Given the description of an element on the screen output the (x, y) to click on. 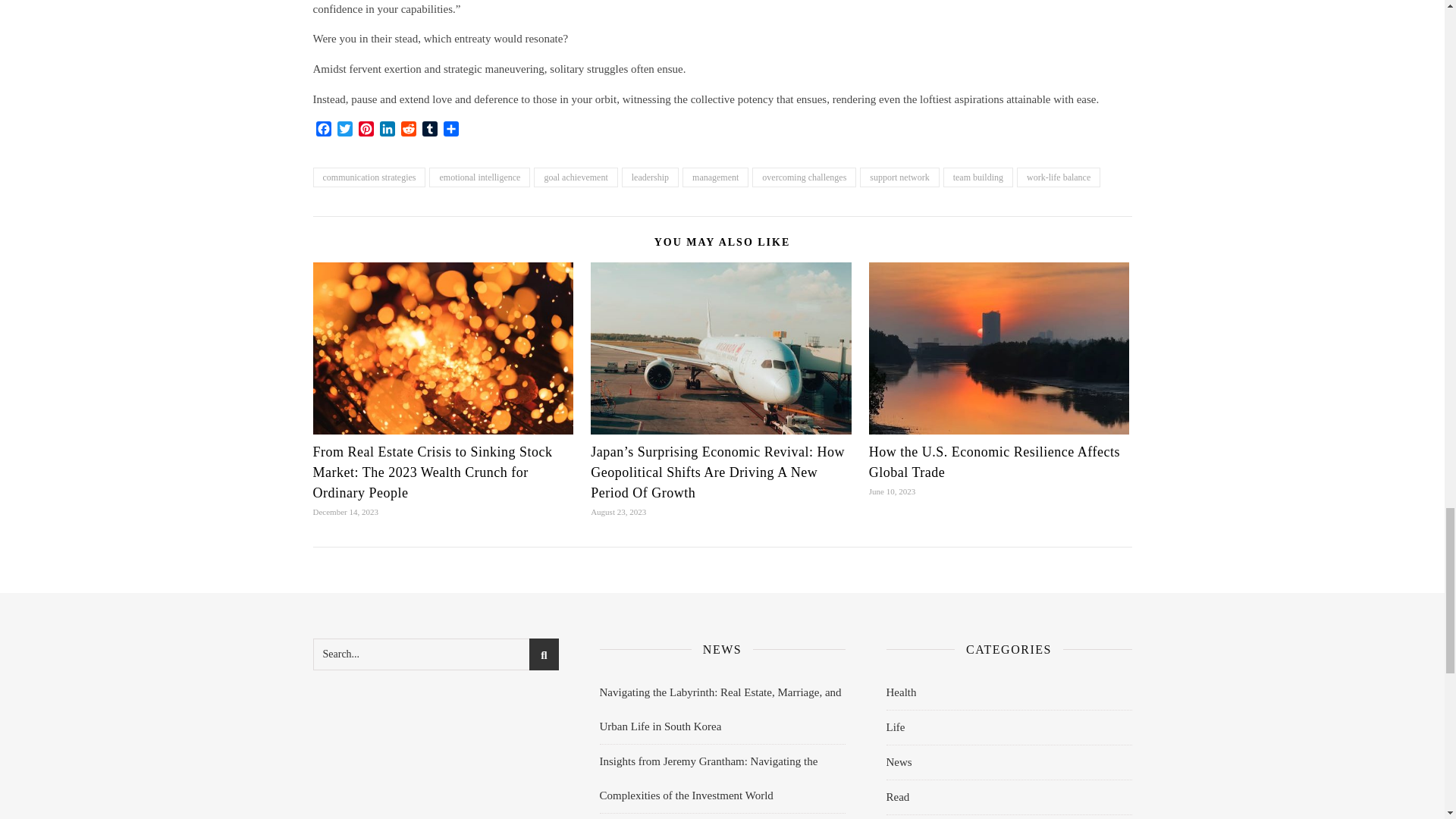
Pinterest (365, 130)
Twitter (344, 130)
Facebook (323, 130)
emotional intelligence (479, 177)
Tumblr (429, 130)
leadership (649, 177)
Pinterest (365, 130)
goal achievement (575, 177)
Tumblr (429, 130)
Reddit (408, 130)
